Given the description of an element on the screen output the (x, y) to click on. 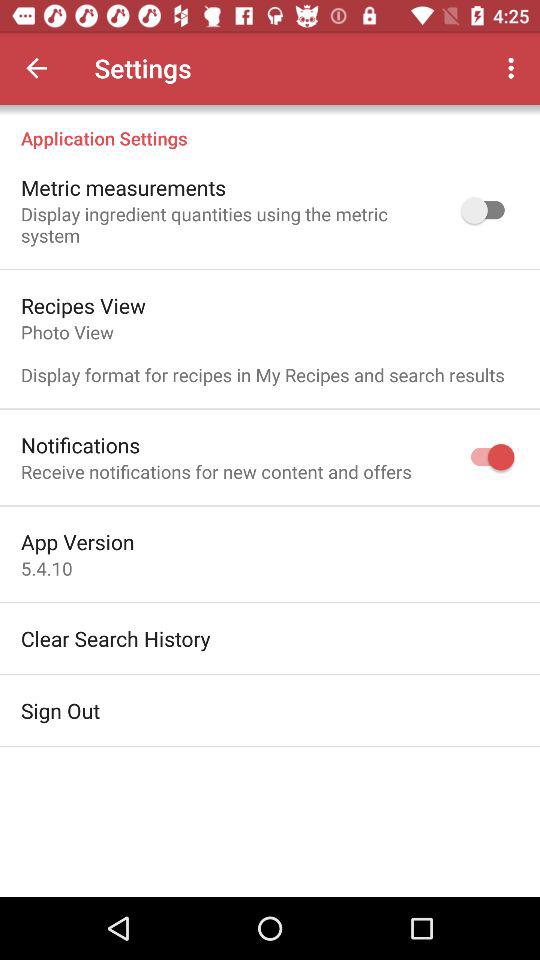
turn on icon next to settings icon (36, 68)
